Given the description of an element on the screen output the (x, y) to click on. 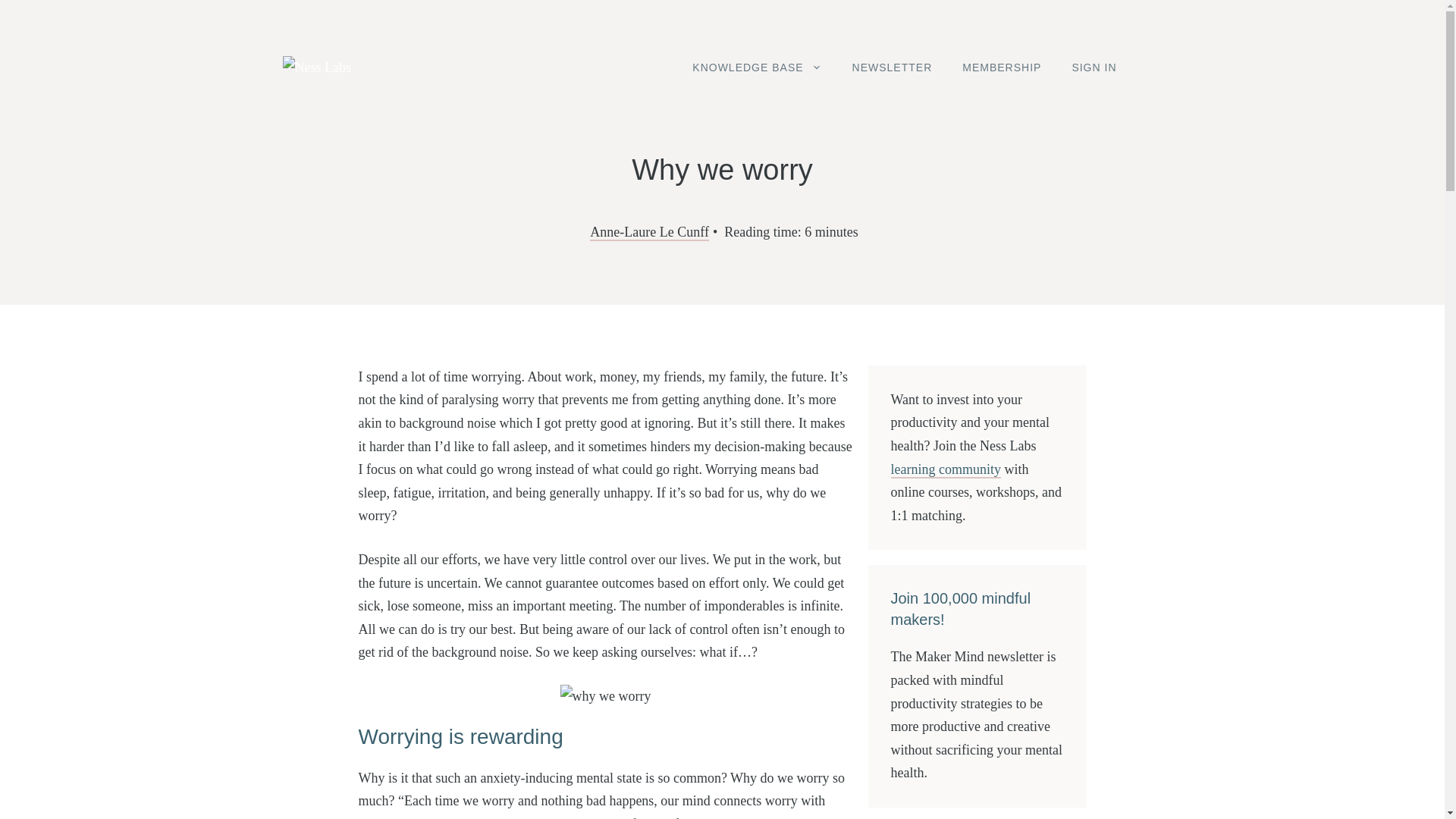
NEWSLETTER (892, 67)
MEMBERSHIP (1002, 67)
SIGN IN (1094, 67)
Anne-Laure Le Cunff (649, 232)
KNOWLEDGE BASE (756, 67)
learning community (944, 469)
